Given the description of an element on the screen output the (x, y) to click on. 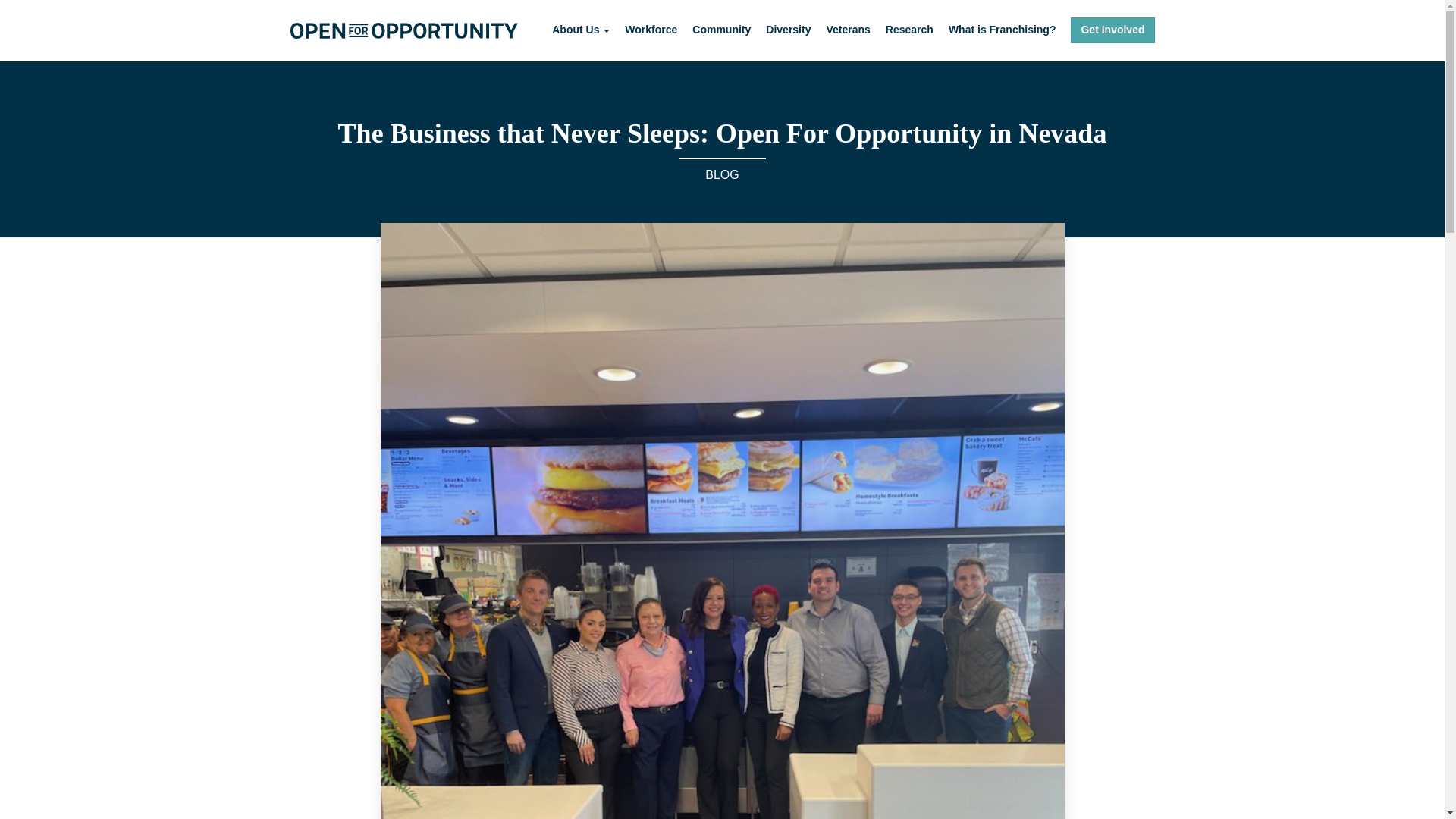
Veterans (847, 29)
Diversity (787, 29)
What is Franchising? (1003, 29)
Workforce (650, 29)
Get Involved (1112, 30)
Community (722, 29)
Research (909, 29)
About Us (580, 29)
